Given the description of an element on the screen output the (x, y) to click on. 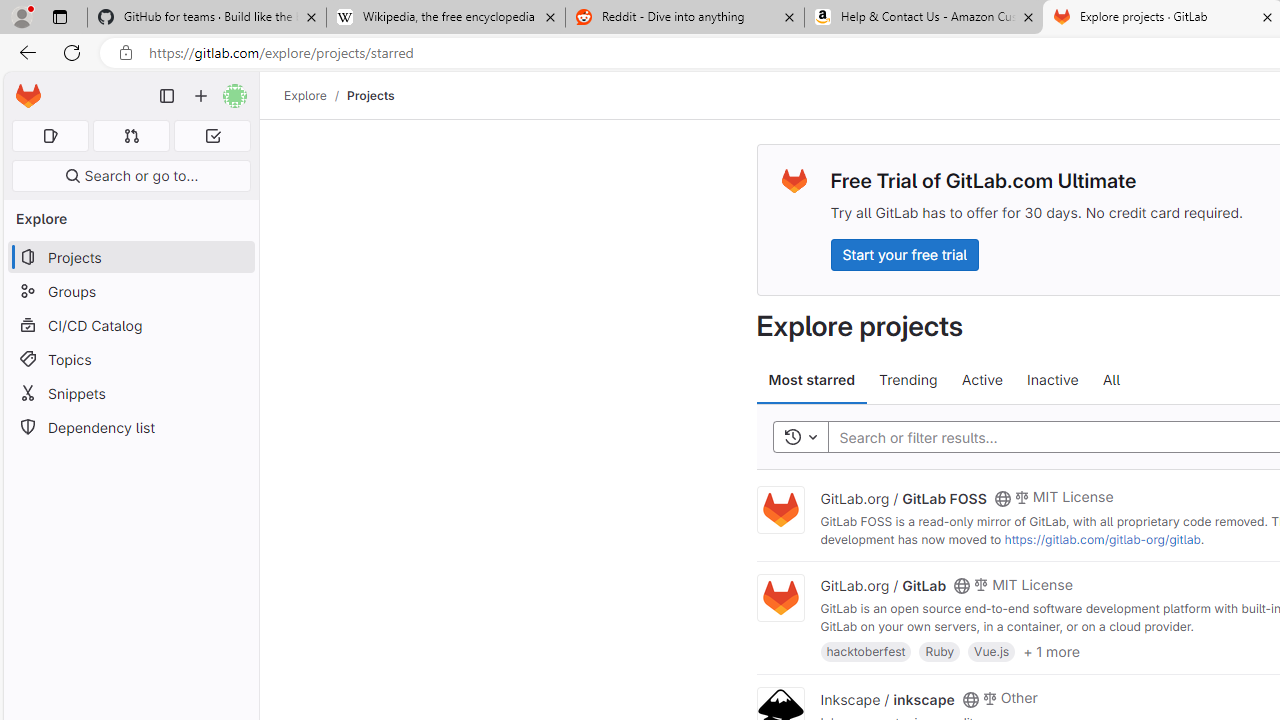
Dependency list (130, 427)
Vue.js (991, 650)
hacktoberfest (866, 650)
Class: project (780, 597)
Reddit - Dive into anything (684, 17)
Toggle history (800, 437)
Topics (130, 358)
Skip to main content (23, 87)
Class: s16 (970, 699)
Dependency list (130, 427)
Merge requests 0 (131, 136)
Class: s14 gl-mr-2 (989, 696)
